Given the description of an element on the screen output the (x, y) to click on. 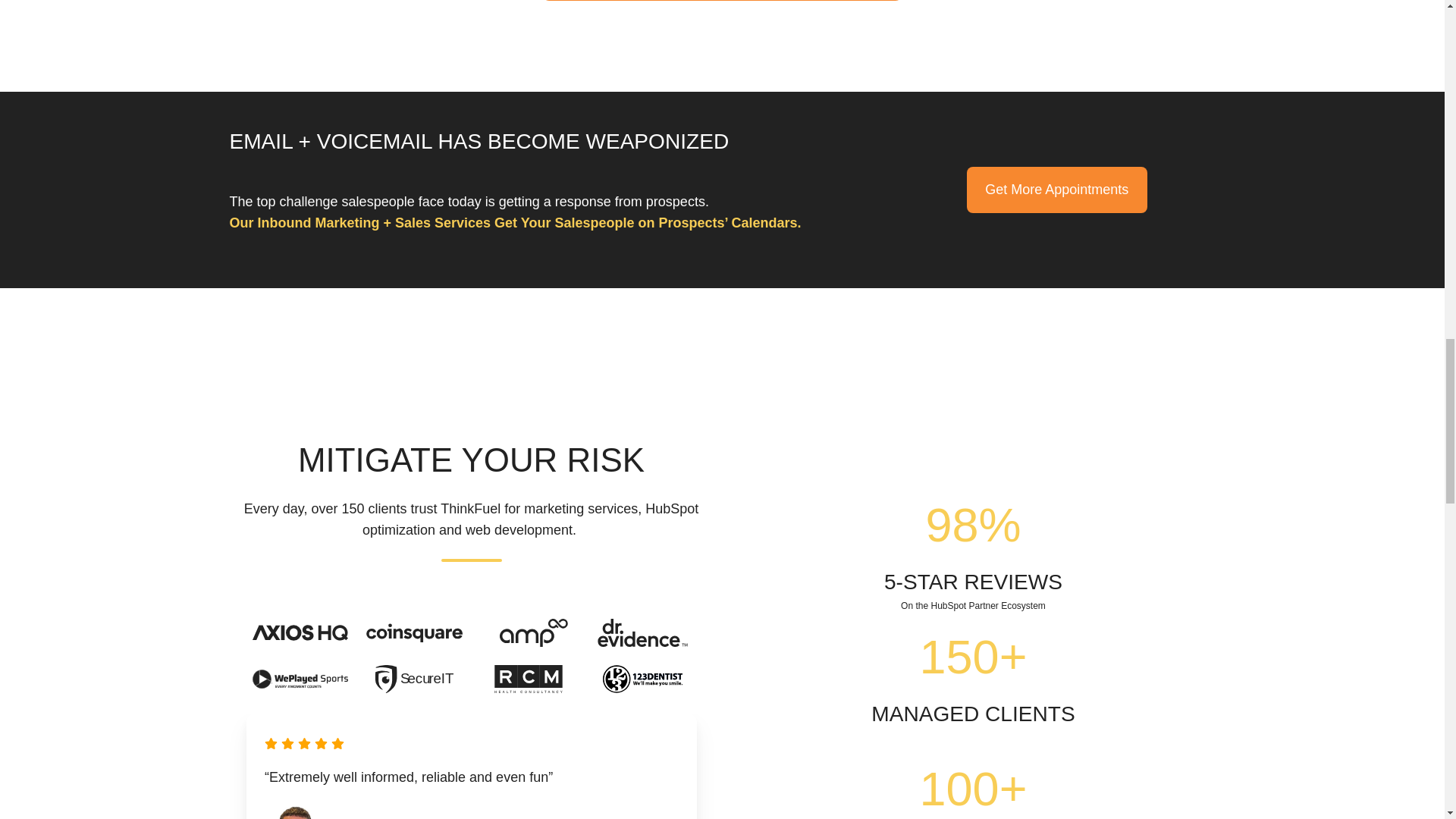
Get More Appointments (1056, 189)
